Given the description of an element on the screen output the (x, y) to click on. 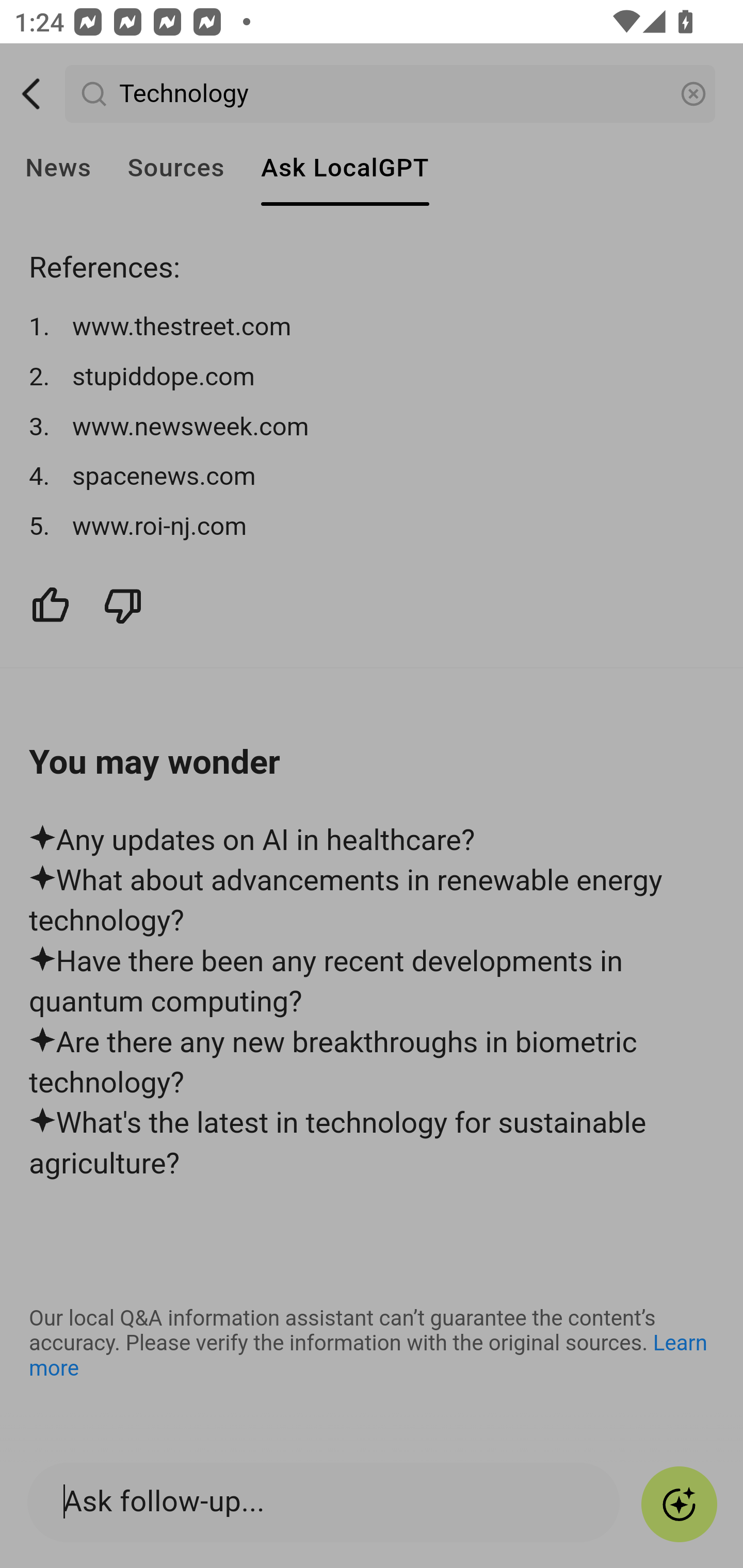
Technology (390, 93)
News (58, 168)
Sources (175, 168)
Ask LocalGPT (344, 168)
1. www.thestreet.com 1. www.thestreet.com (372, 327)
2. stupiddope.com 2. stupiddope.com (372, 377)
3. www.newsweek.com 3. www.newsweek.com (372, 426)
4. spacenews.com 4. spacenews.com (372, 476)
5. www.roi-nj.com 5. www.roi-nj.com (372, 525)
Any updates on AI in healthcare? (372, 840)
